Given the description of an element on the screen output the (x, y) to click on. 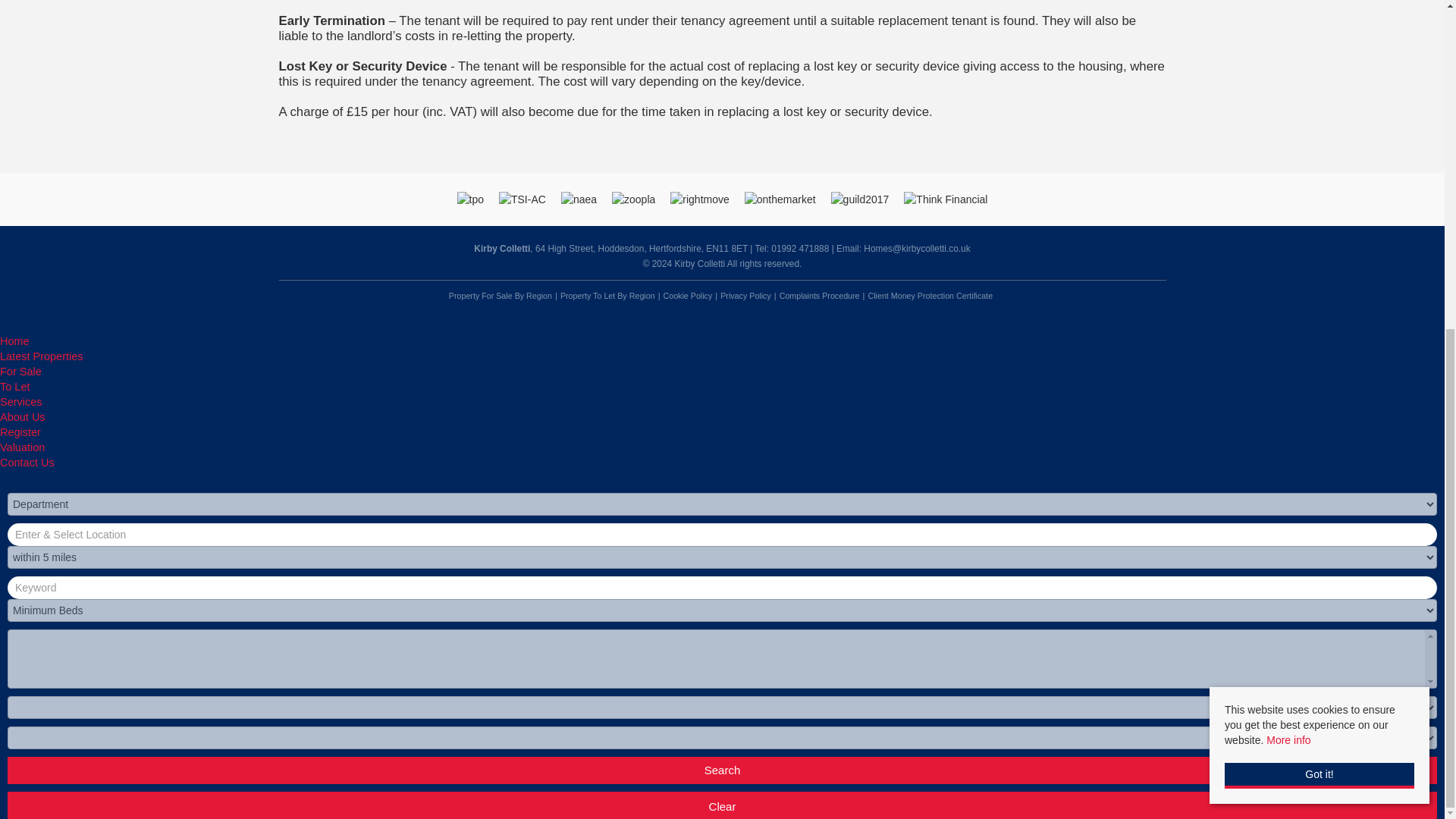
Cookie Policy (687, 295)
Complaints Procedure (819, 295)
Property For Sale By Region (500, 295)
Property To Let By Region (607, 295)
Got it! (1318, 231)
Client Money Protection Certificate (930, 295)
Privacy Policy (746, 295)
More info (1288, 196)
